Given the description of an element on the screen output the (x, y) to click on. 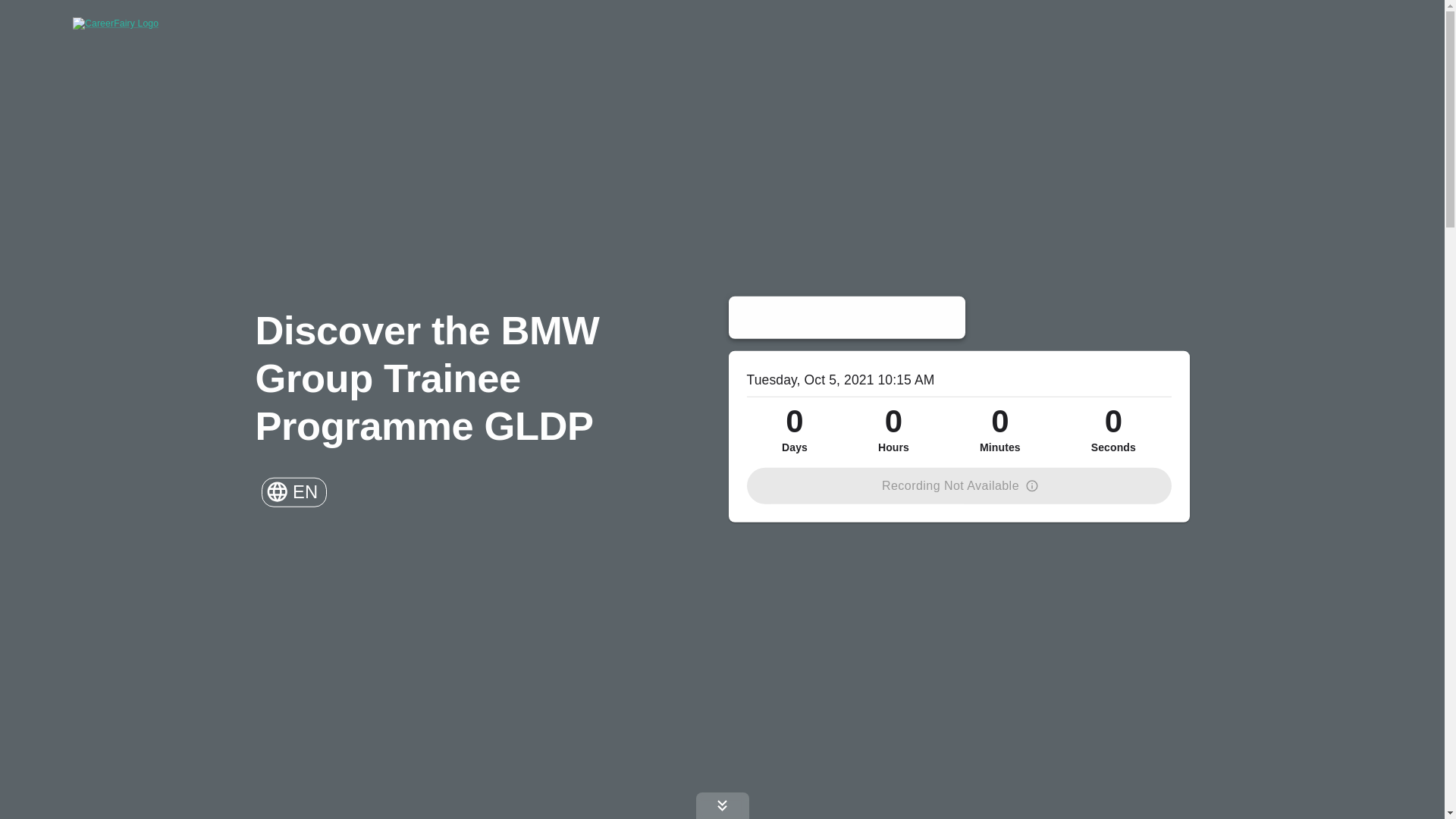
Recording Not Available (957, 485)
BMW (845, 317)
